Given the description of an element on the screen output the (x, y) to click on. 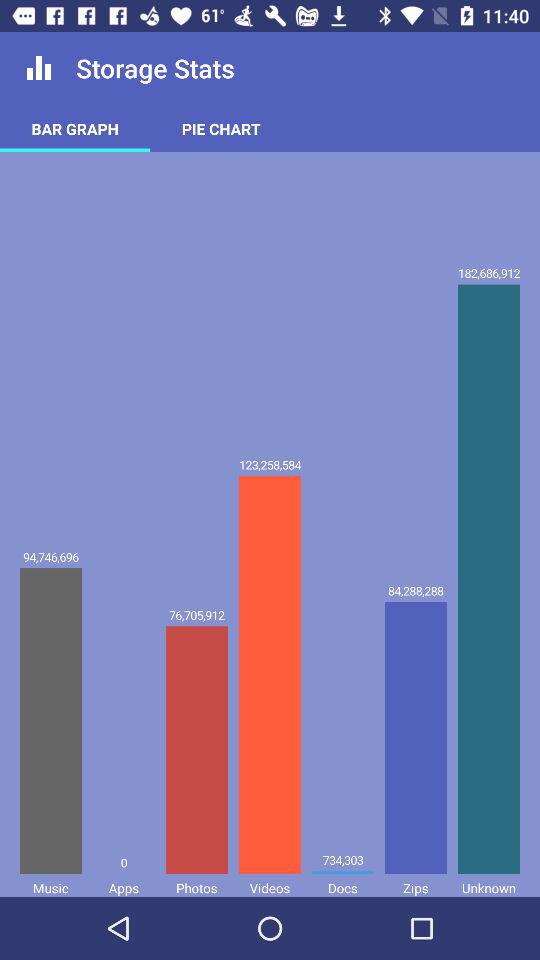
select bar graph icon (75, 128)
